Given the description of an element on the screen output the (x, y) to click on. 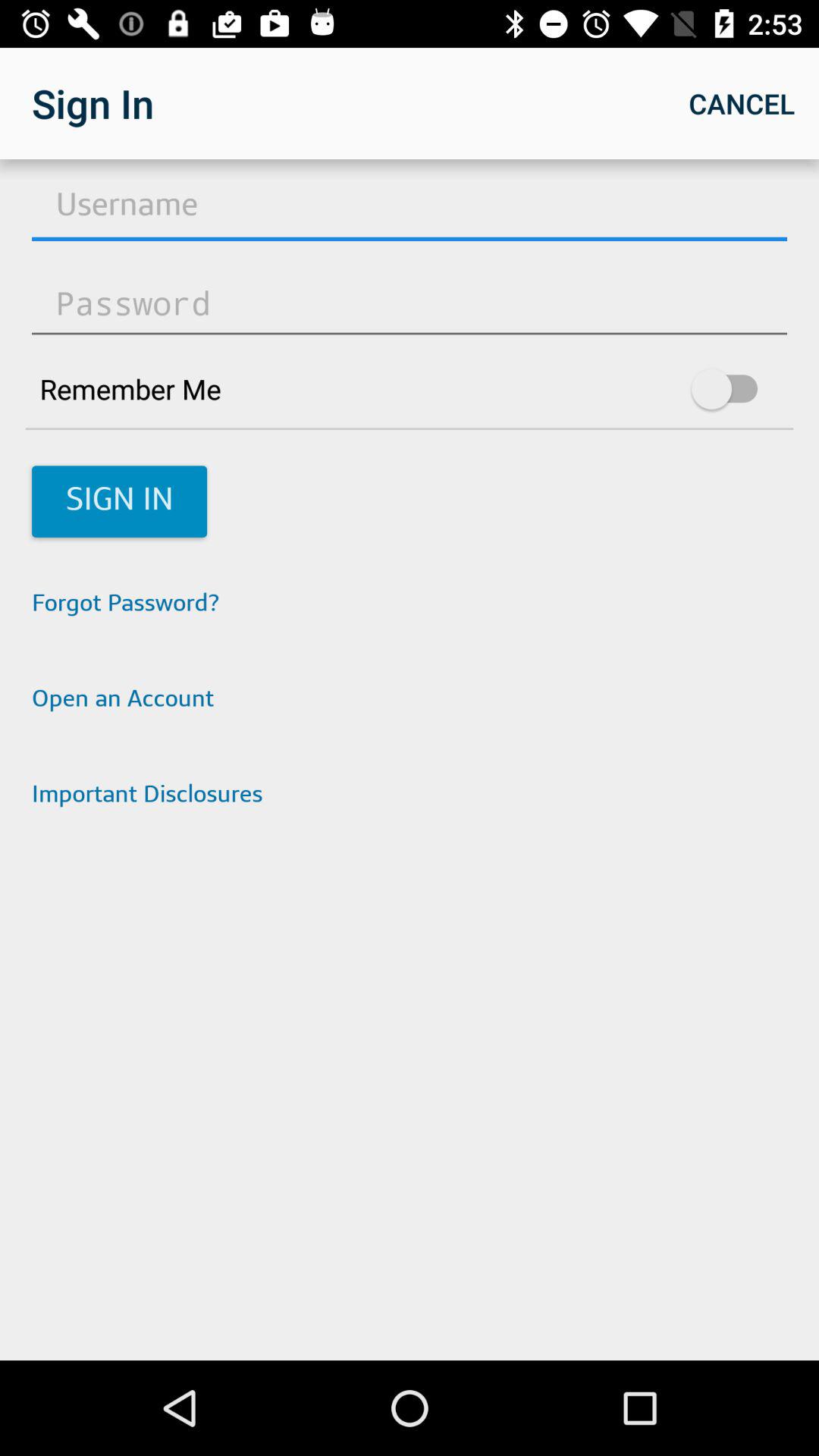
jump to important disclosures app (409, 796)
